Given the description of an element on the screen output the (x, y) to click on. 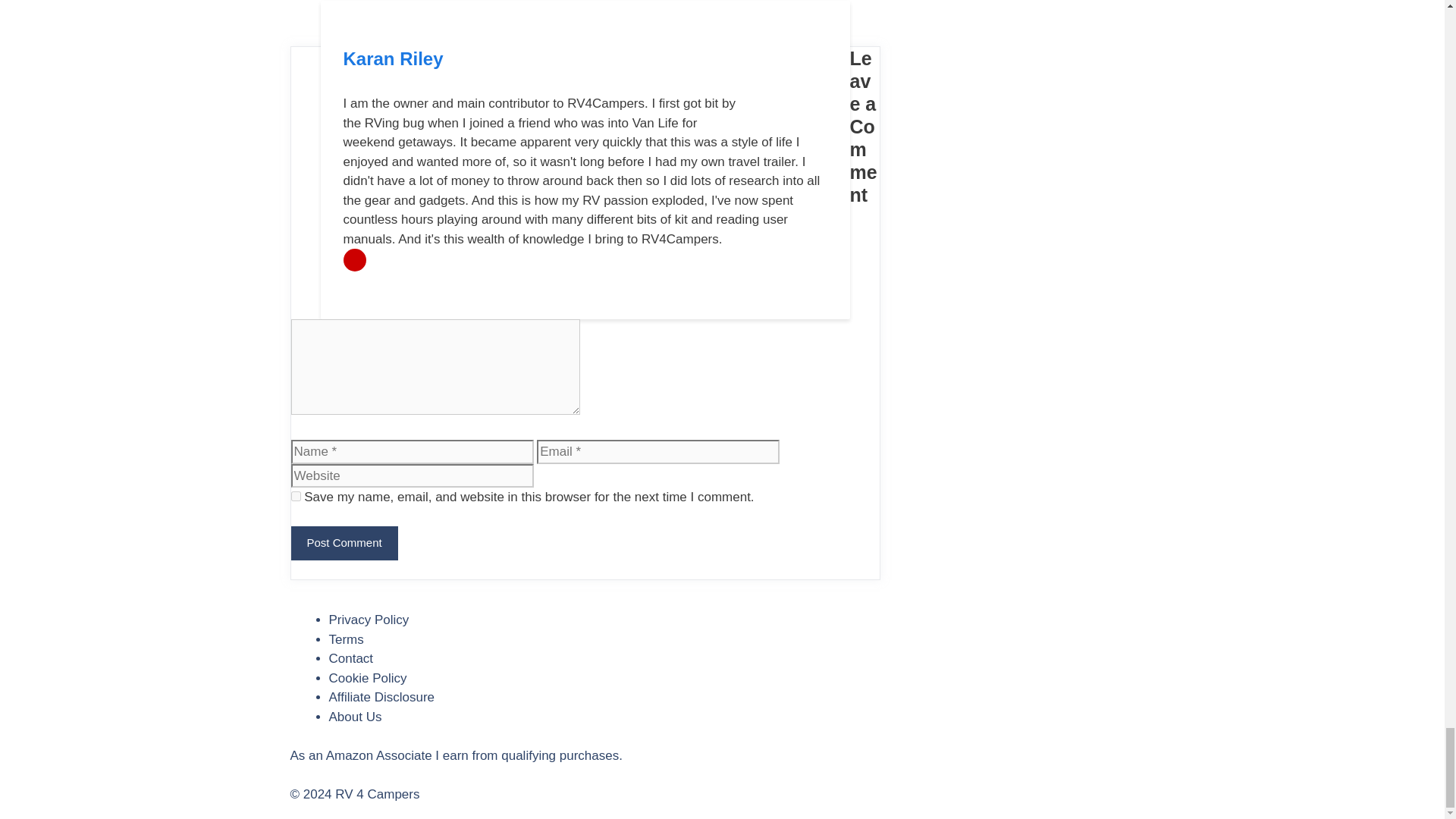
Karan Riley (392, 58)
yes (296, 496)
Post Comment (344, 543)
Post Comment (344, 543)
Follow on Pinterest (353, 259)
